Given the description of an element on the screen output the (x, y) to click on. 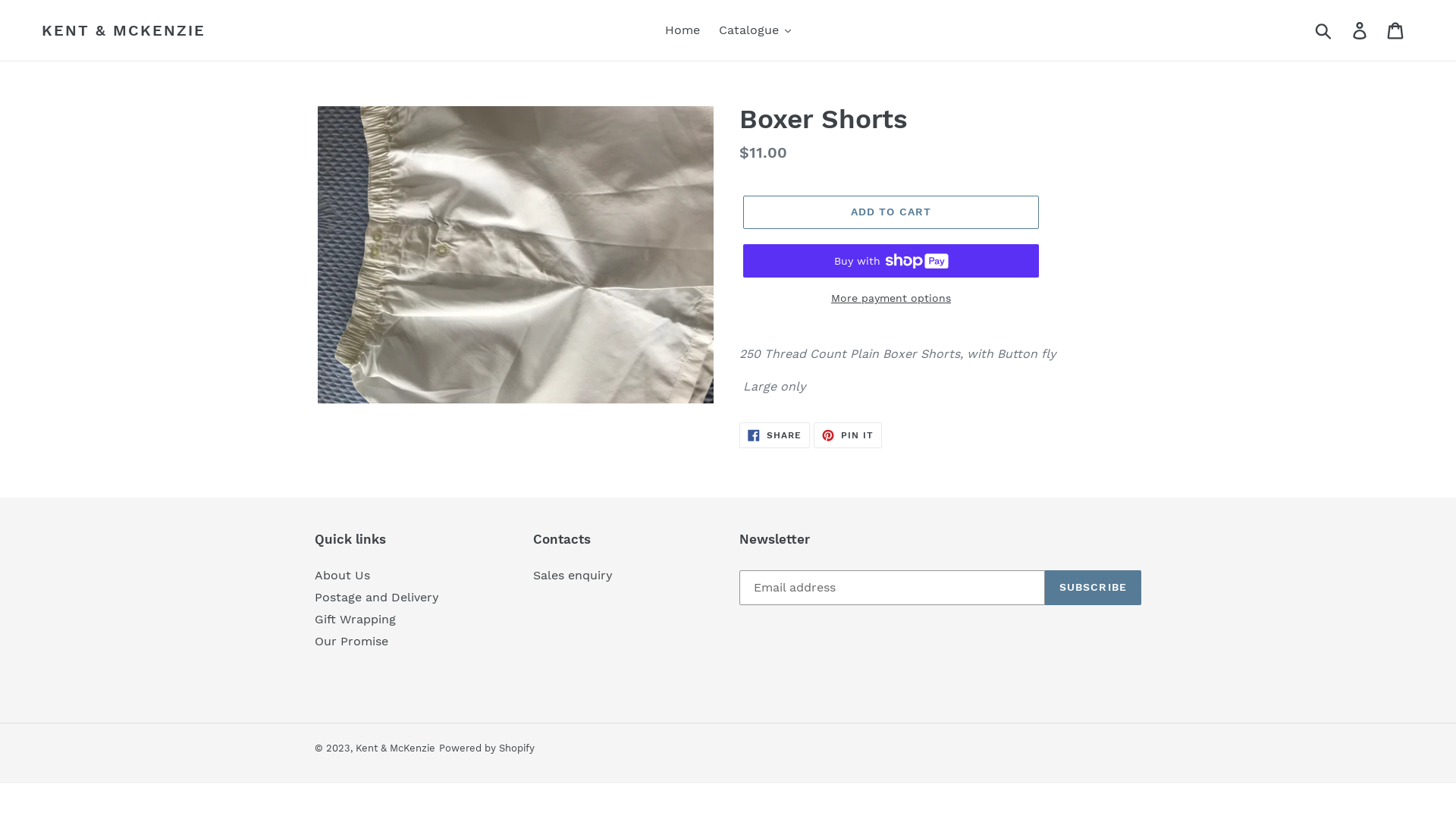
SUBSCRIBE Element type: text (1092, 587)
Gift Wrapping Element type: text (354, 618)
PIN IT
PIN ON PINTEREST Element type: text (847, 435)
Our Promise Element type: text (351, 640)
Cart Element type: text (1396, 30)
KENT & MCKENZIE Element type: text (123, 30)
Home Element type: text (682, 29)
Kent & McKenzie Element type: text (395, 747)
SHARE
SHARE ON FACEBOOK Element type: text (774, 435)
More payment options Element type: text (890, 298)
Postage and Delivery Element type: text (376, 596)
Log in Element type: text (1360, 30)
ADD TO CART Element type: text (890, 212)
Powered by Shopify Element type: text (486, 747)
Sales enquiry Element type: text (571, 574)
About Us Element type: text (342, 574)
Submit Element type: text (1324, 30)
